Given the description of an element on the screen output the (x, y) to click on. 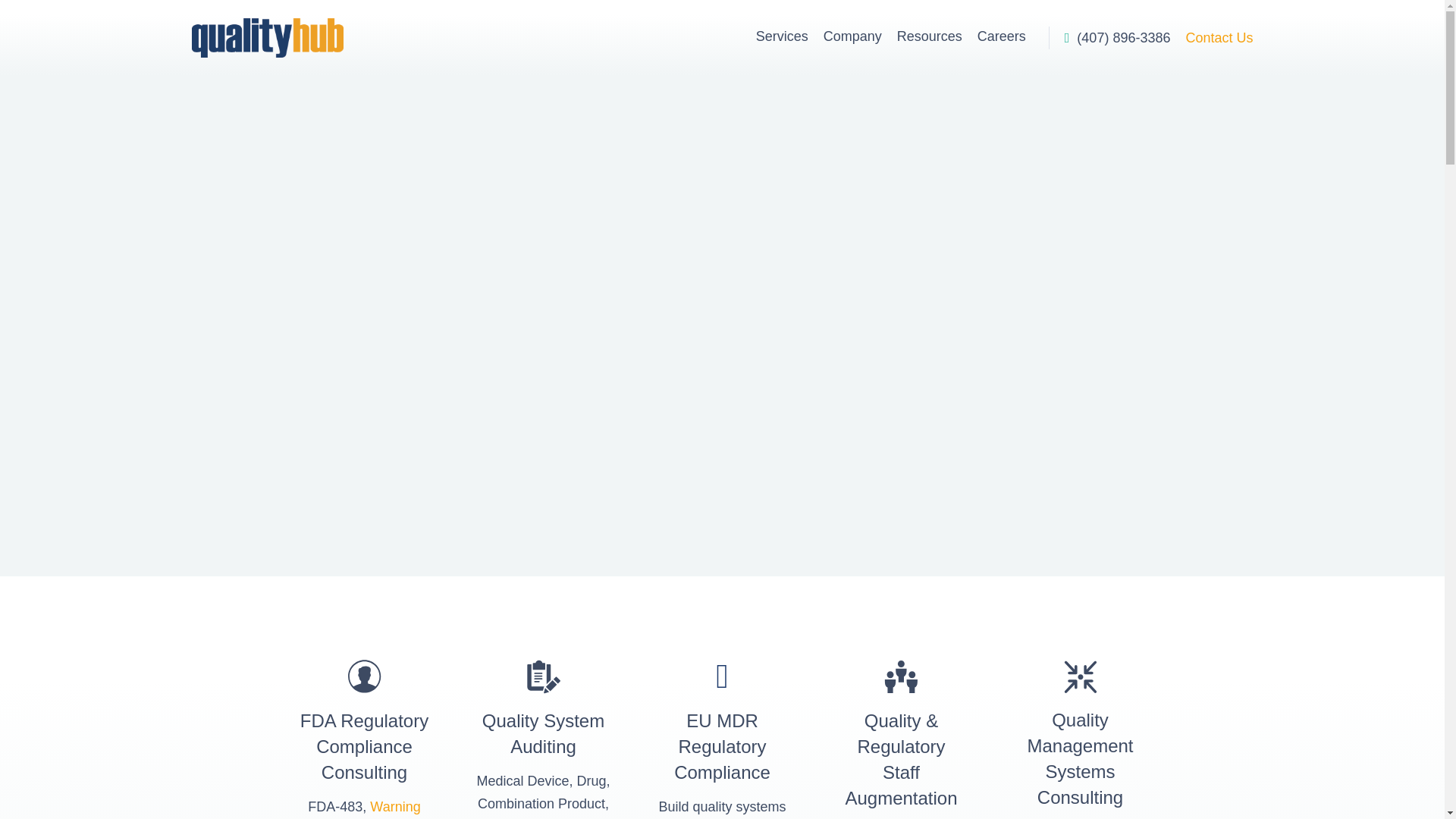
FDA Regulatory Compliance Consulting (363, 746)
Careers (1001, 37)
Resources (929, 37)
Quality System Auditing (542, 733)
Quality Management Systems Consulting (1079, 759)
Services (781, 37)
Company (853, 37)
EU MDR Regulatory Compliance (722, 746)
Warning Letter (365, 809)
Contact Us (1218, 37)
